Given the description of an element on the screen output the (x, y) to click on. 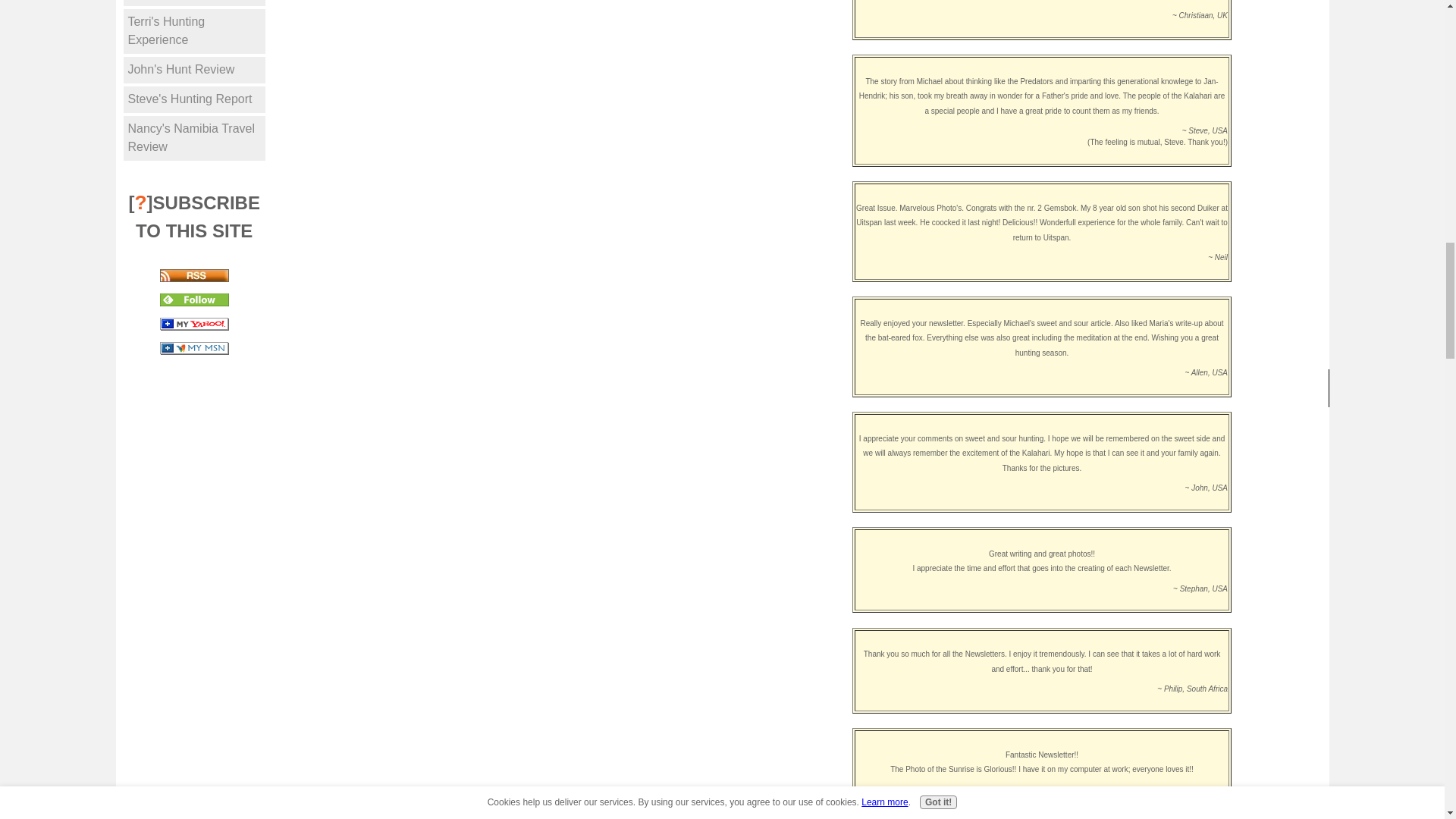
Steve's Hunting Report (193, 99)
Jaco's Kalahari Reflection (193, 2)
John's Hunt Review (193, 69)
Nancy's Namibia Travel Review (193, 138)
Terri's Hunting Experience (193, 31)
